Given the description of an element on the screen output the (x, y) to click on. 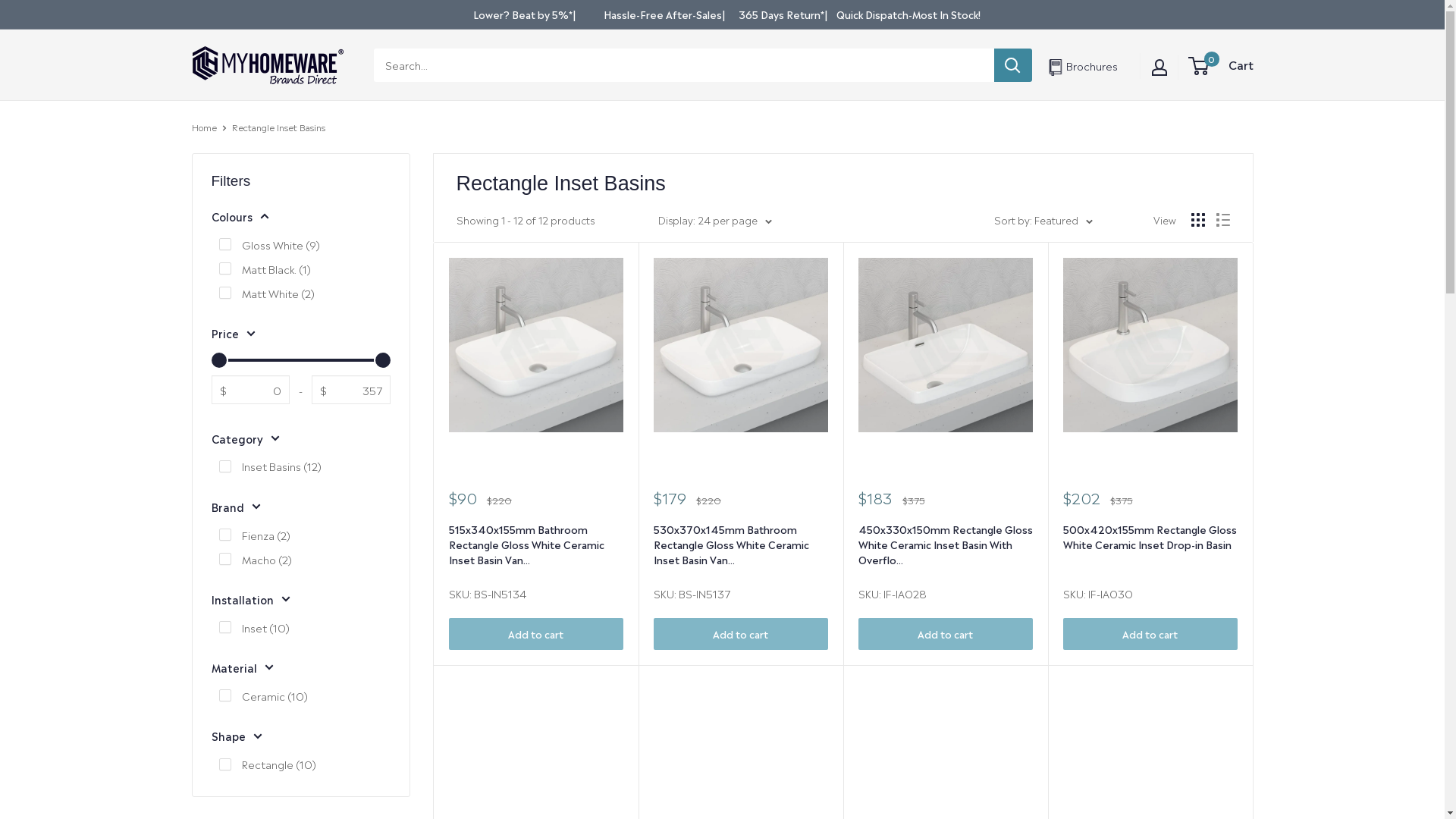
0
Cart Element type: text (1220, 64)
Home Element type: text (203, 126)
Add to cart Element type: text (1150, 633)
Add to cart Element type: text (945, 633)
Price Element type: text (299, 332)
Add to cart Element type: text (740, 633)
Installation Element type: text (299, 598)
Colours Element type: text (299, 215)
Brochures Element type: text (1085, 64)
Display: 24 per page Element type: text (714, 219)
Shape Element type: text (299, 735)
Category Element type: text (299, 438)
Add to cart Element type: text (535, 633)
MyHomeware Pty Ltd (ABN: 66 657 841 659) Element type: text (266, 64)
Brand Element type: text (299, 506)
Rectangle Inset Basins Element type: text (278, 126)
Material Element type: text (299, 667)
Sort by: Featured Element type: text (1042, 219)
